Given the description of an element on the screen output the (x, y) to click on. 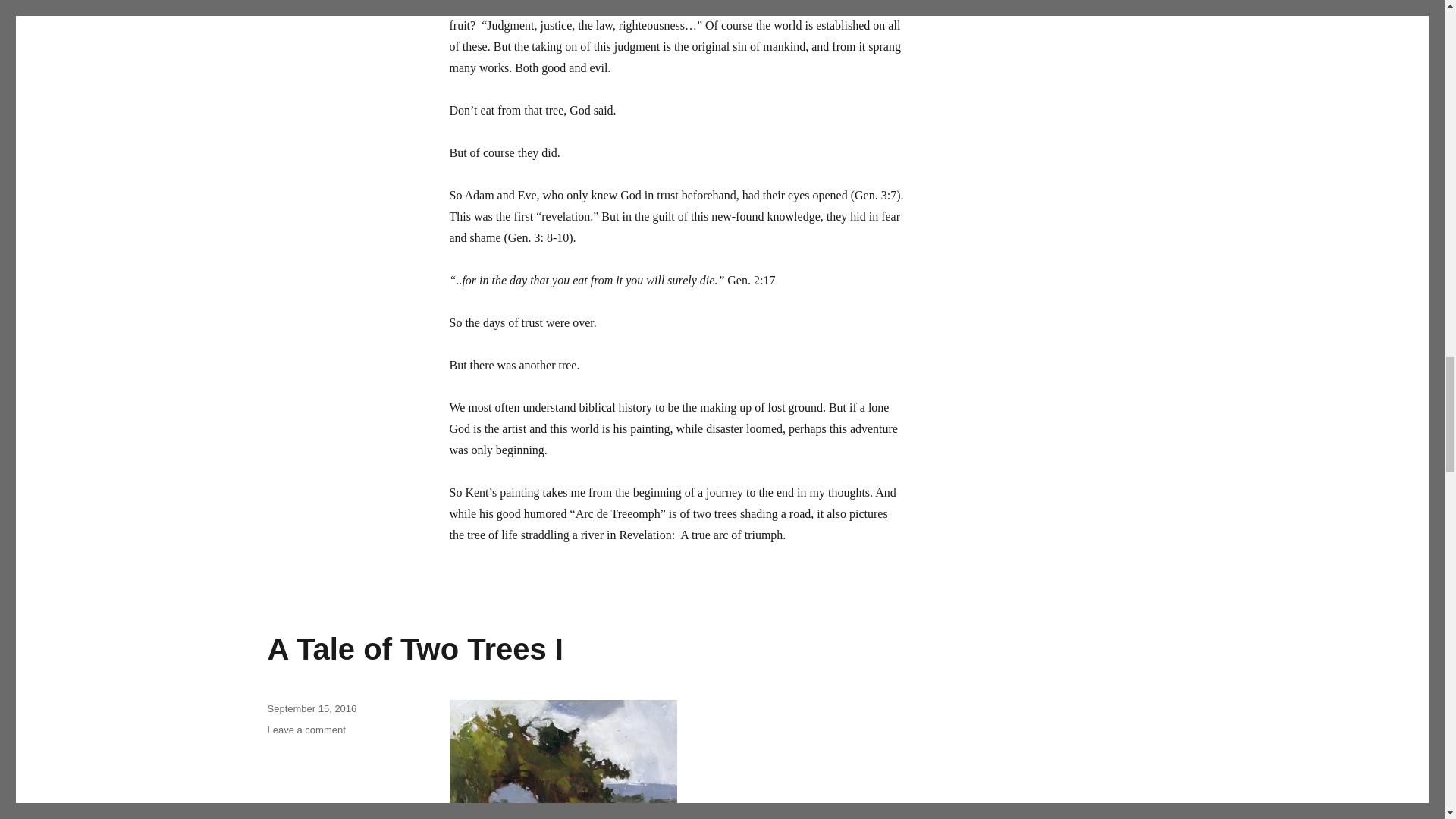
A Tale of Two Trees I (414, 648)
September 15, 2016 (305, 729)
